Given the description of an element on the screen output the (x, y) to click on. 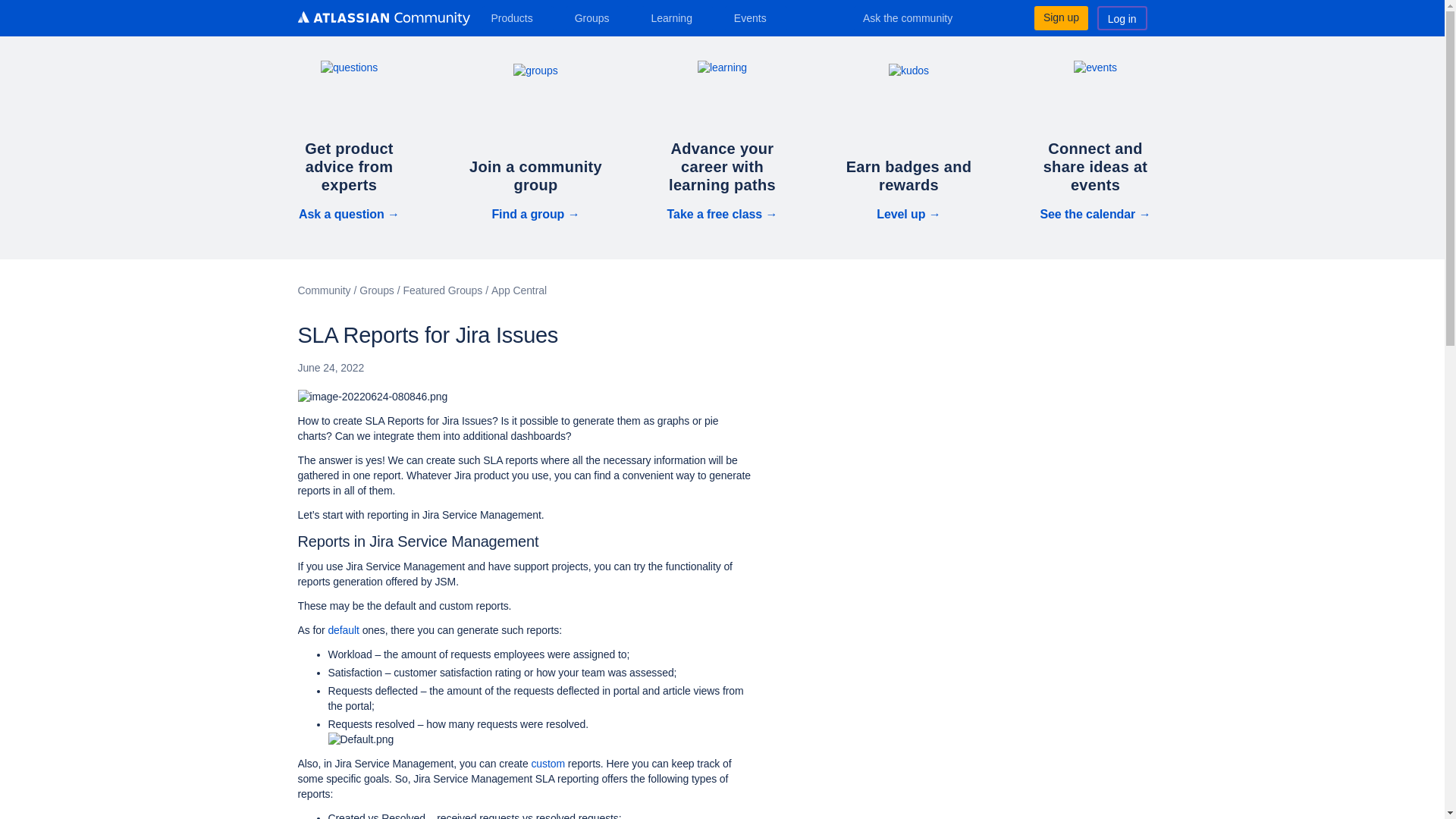
Atlassian Community logo (382, 19)
Events (756, 17)
image-20220624-080846.png (371, 396)
Log in (1122, 17)
Learning (676, 17)
Sign up (1060, 17)
Products (517, 17)
Atlassian Community logo (382, 18)
Default.png (360, 739)
Ask the community  (917, 17)
